Given the description of an element on the screen output the (x, y) to click on. 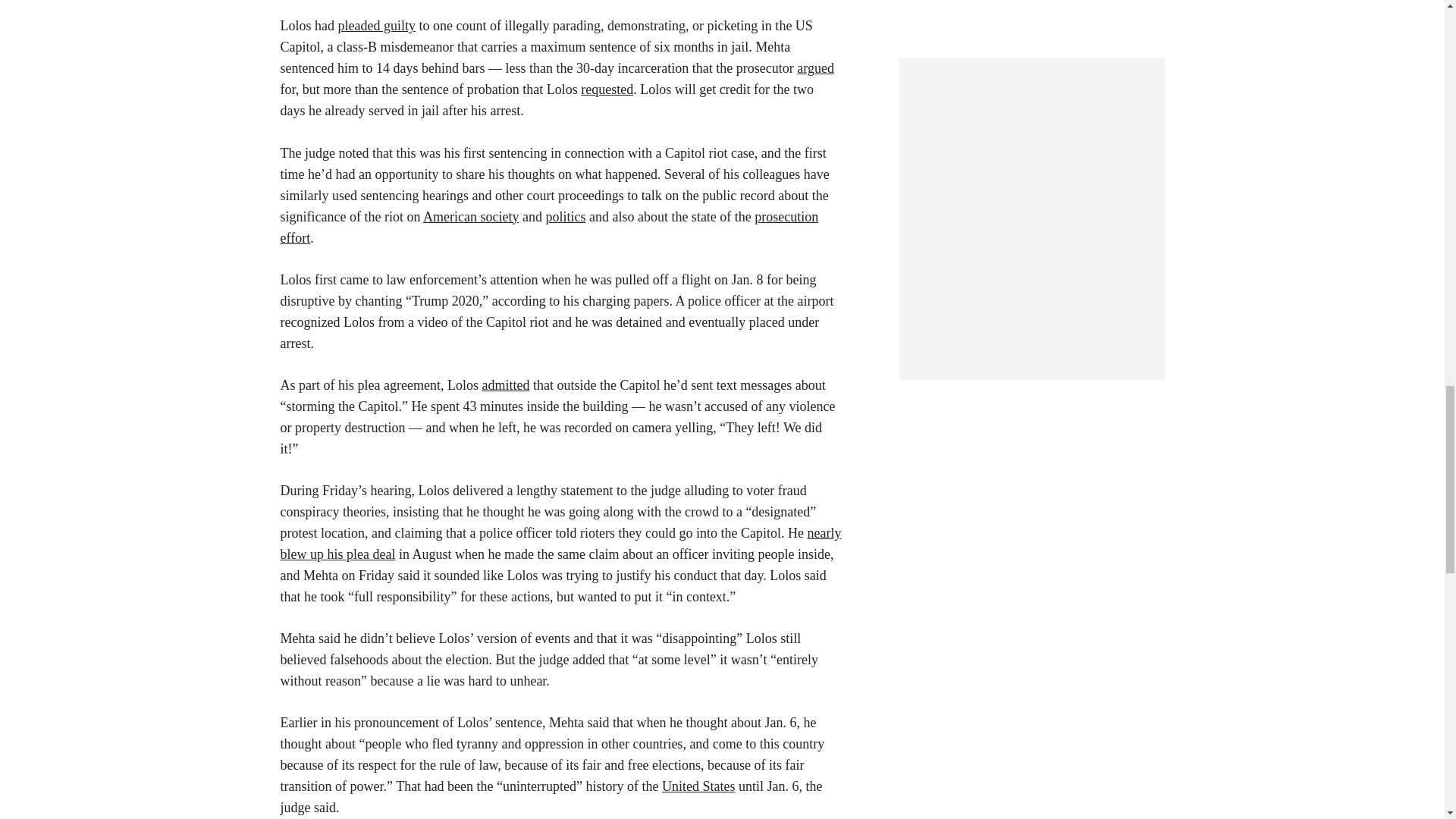
American society (470, 216)
requested (606, 89)
prosecution effort (549, 227)
admitted (505, 385)
nearly blew up his plea deal (561, 543)
argued (815, 68)
pleaded guilty (375, 25)
United States (698, 785)
politics (564, 216)
